Given the description of an element on the screen output the (x, y) to click on. 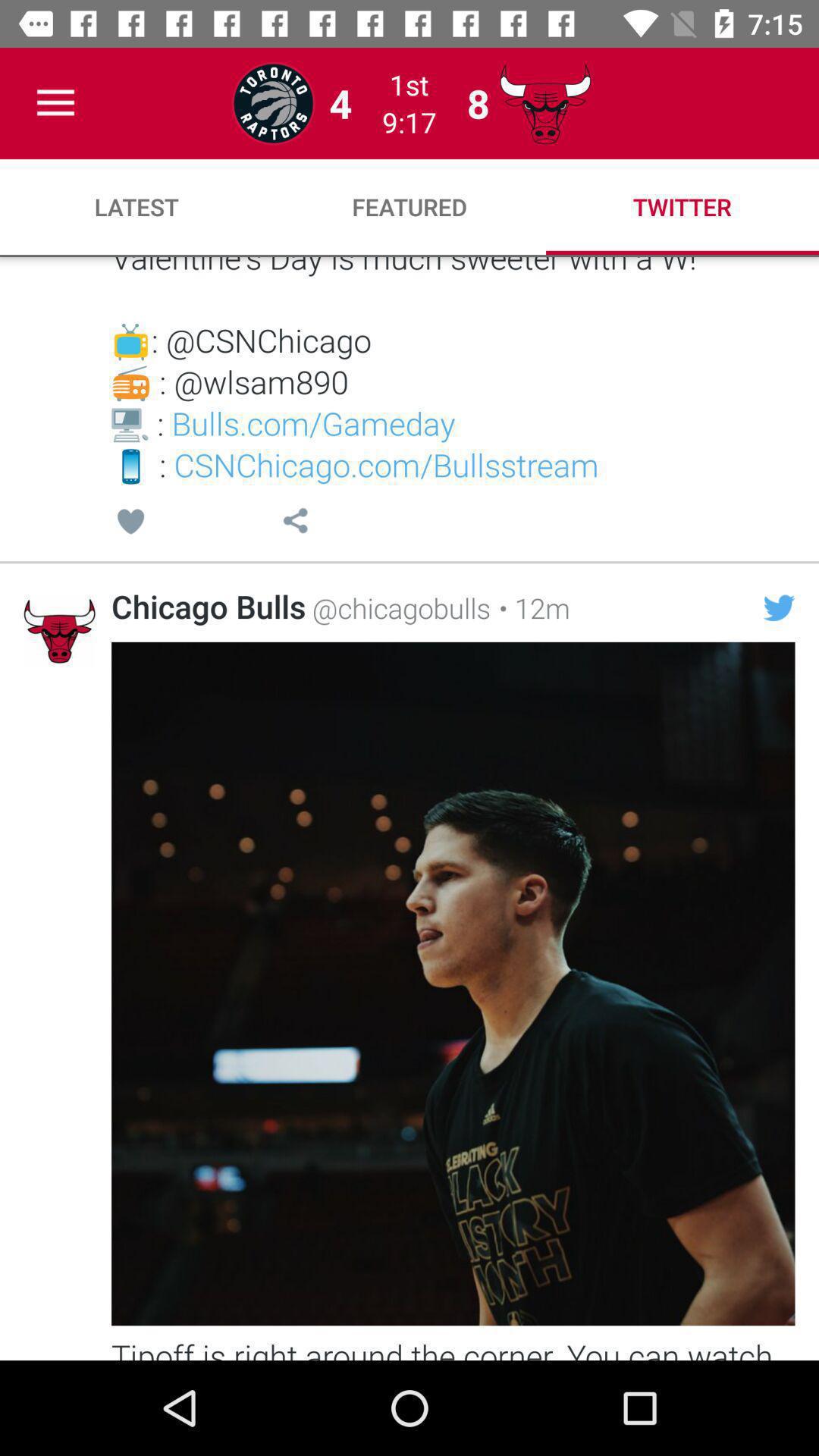
open icon next to the @chicagobulls (529, 607)
